Given the description of an element on the screen output the (x, y) to click on. 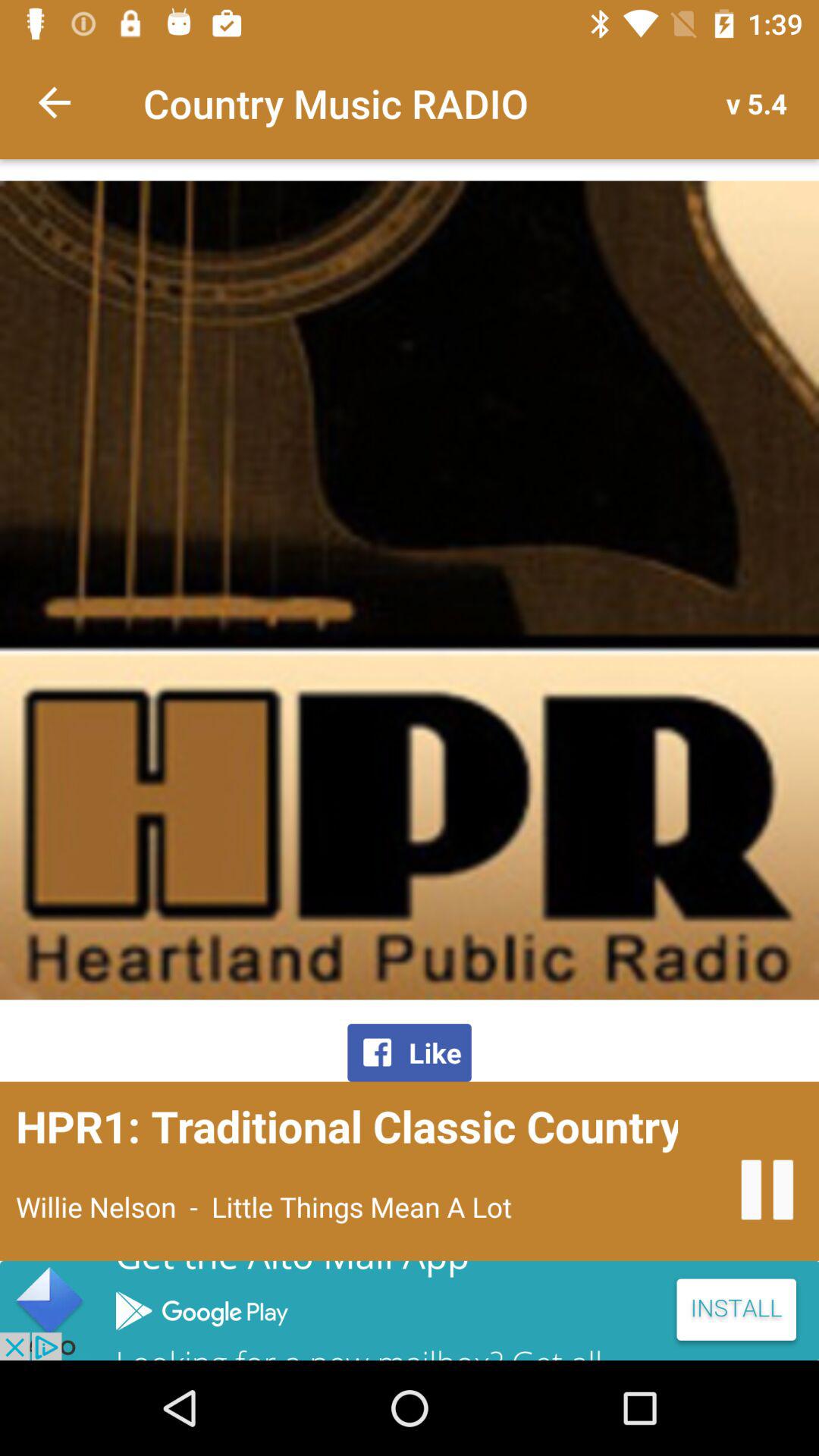
advertisement page (409, 1310)
